Given the description of an element on the screen output the (x, y) to click on. 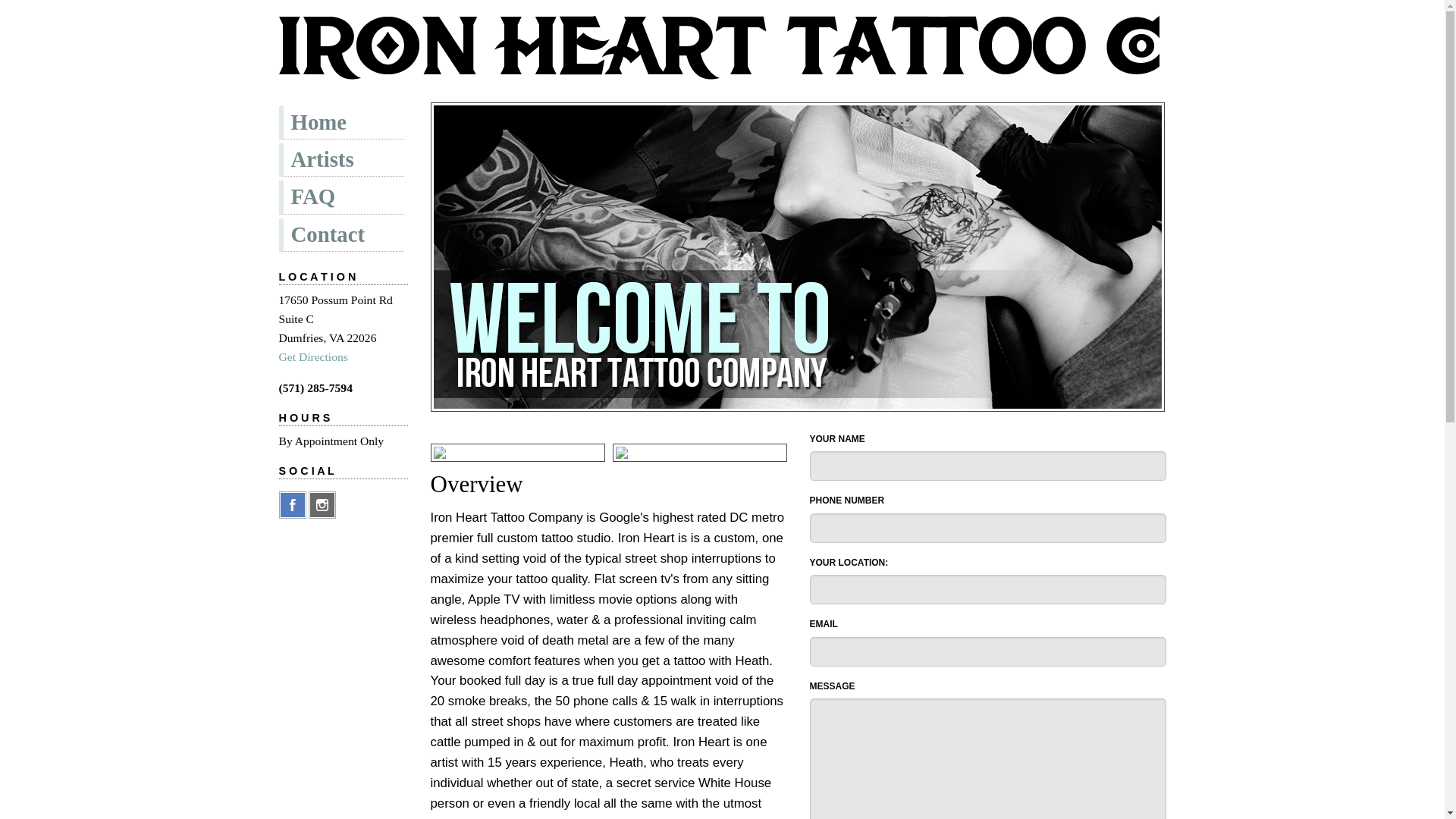
Contact (341, 234)
Get Directions (313, 356)
Home (341, 122)
FAQ (341, 196)
Artists (341, 159)
